Given the description of an element on the screen output the (x, y) to click on. 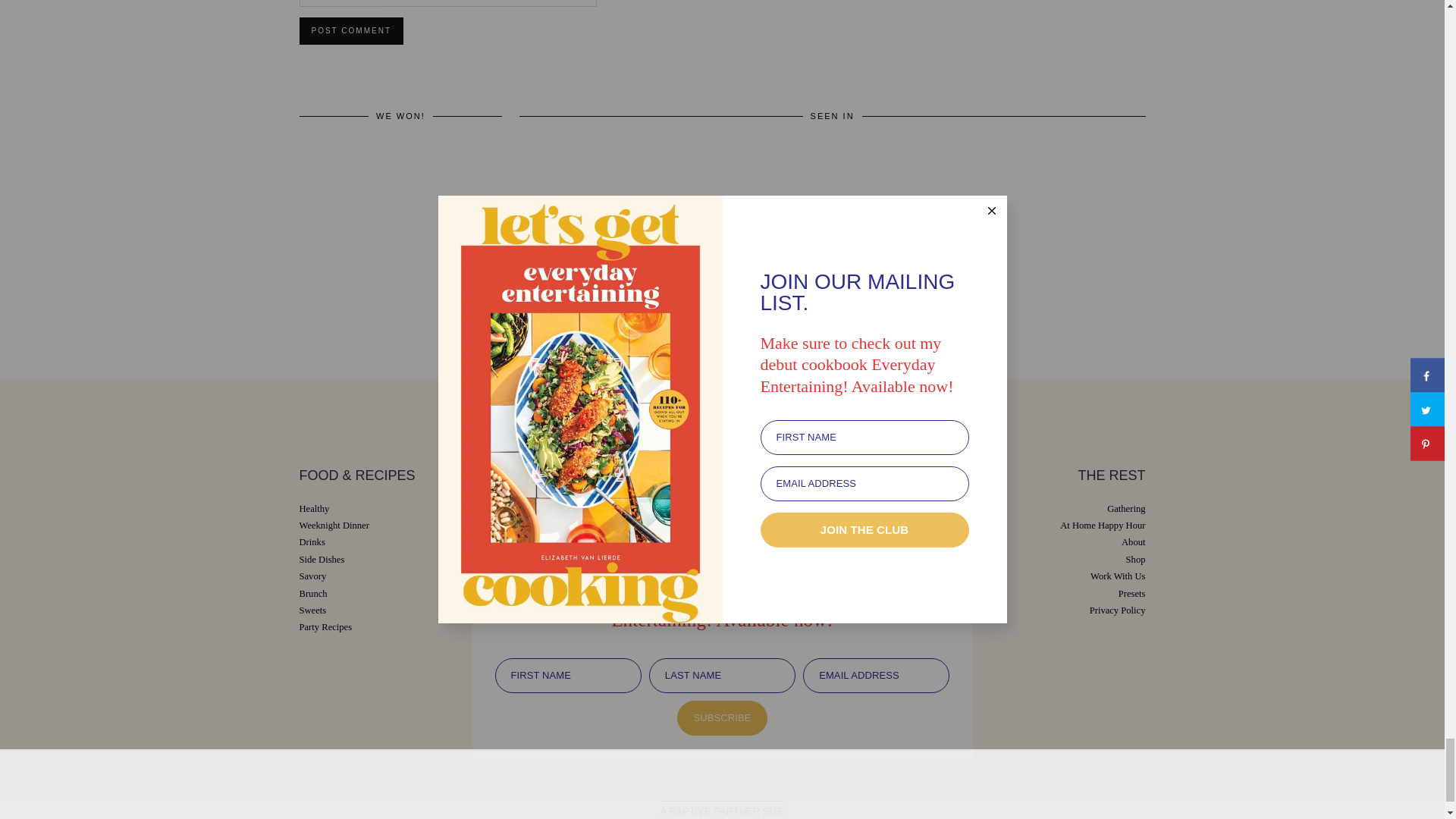
Post Comment (350, 31)
